Given the description of an element on the screen output the (x, y) to click on. 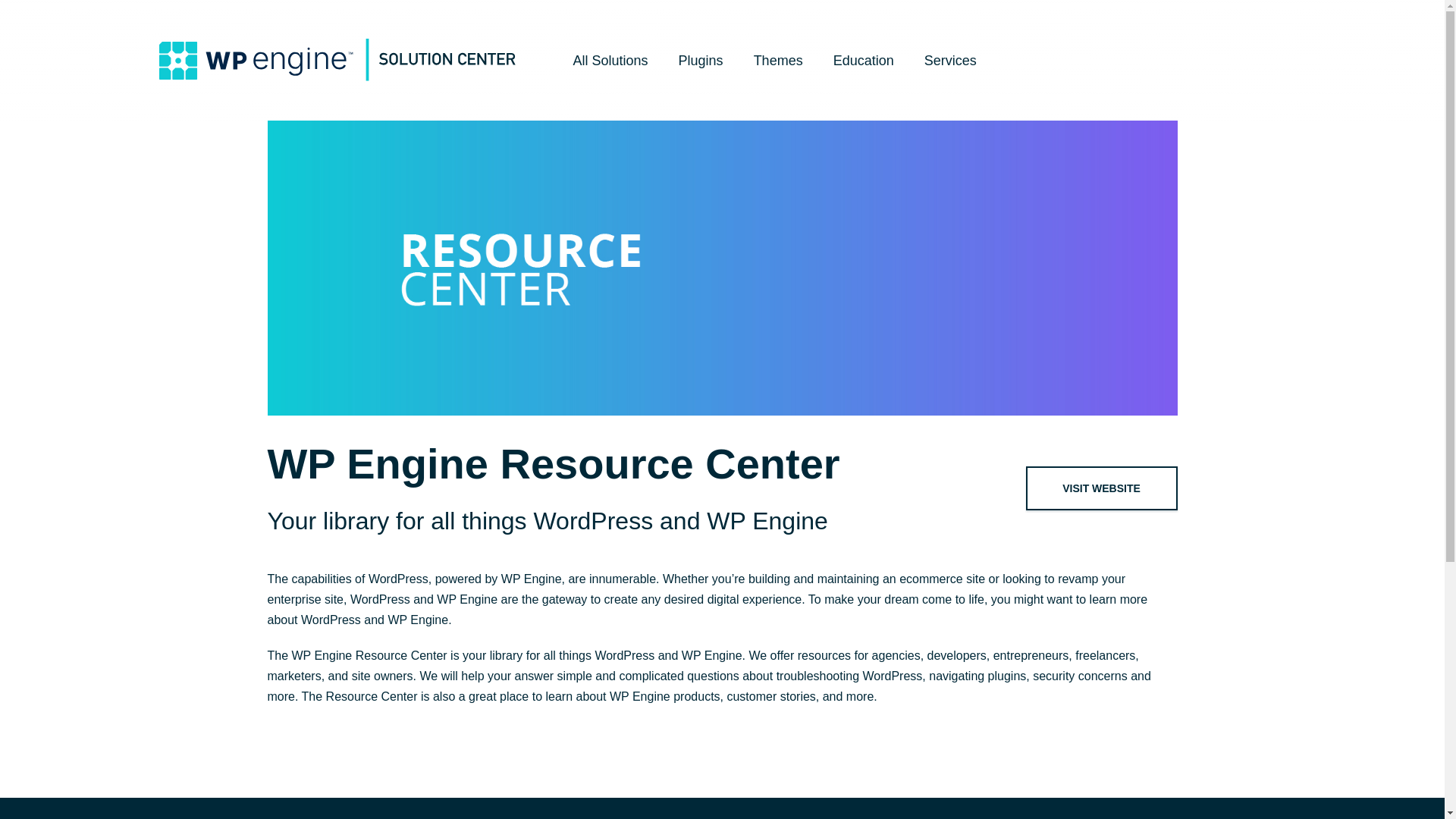
Themes (778, 59)
All Solutions (610, 59)
Services (950, 59)
VISIT WEBSITE (1101, 488)
Education (862, 59)
Plugins (700, 59)
